Given the description of an element on the screen output the (x, y) to click on. 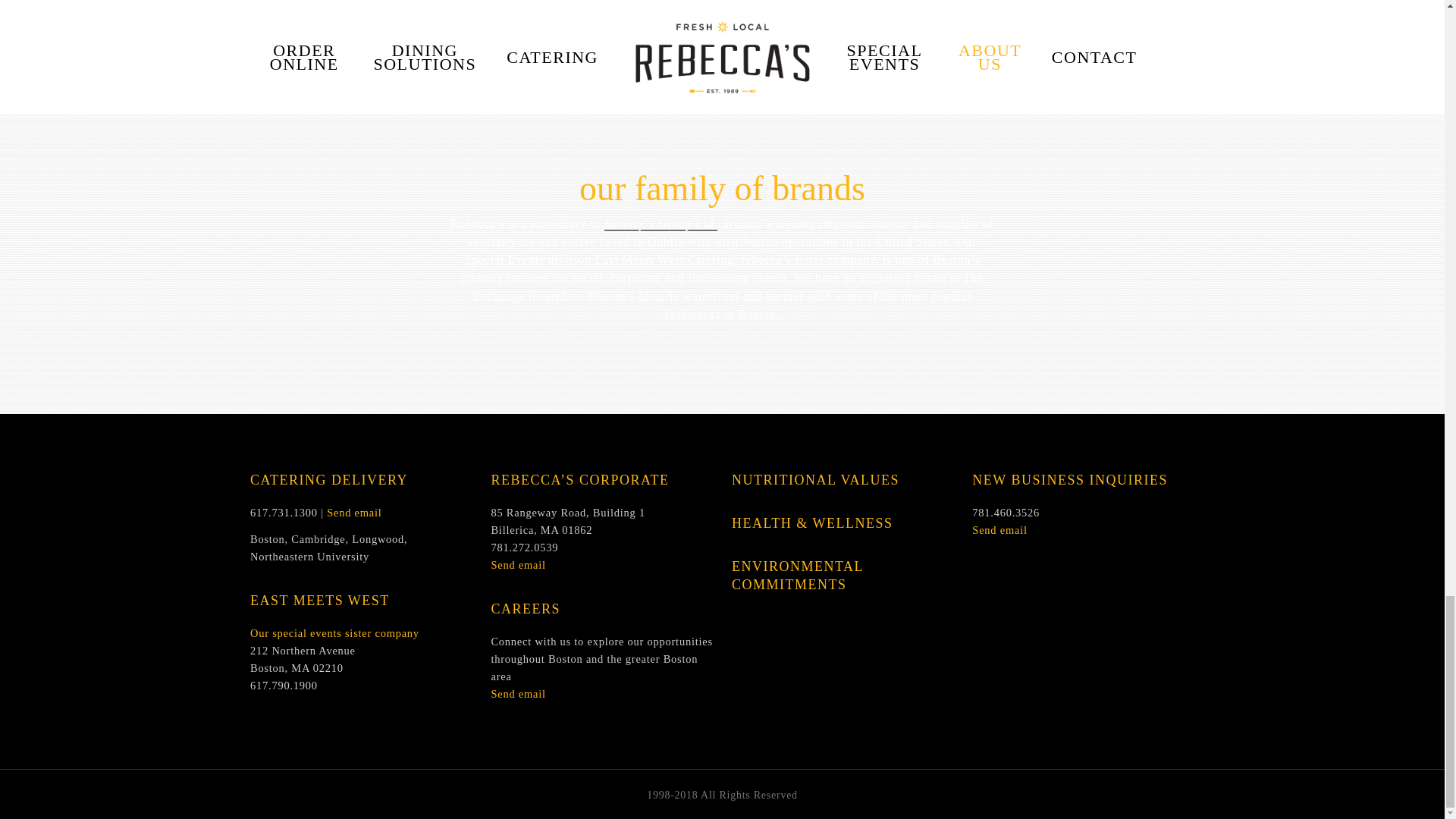
ENVIRONMENTAL COMMITMENTS (797, 575)
Send email (353, 512)
Send email (517, 564)
Our special events sister company (334, 633)
NUTRITIONAL VALUES (815, 479)
Send email (517, 693)
Send email (999, 530)
